Given the description of an element on the screen output the (x, y) to click on. 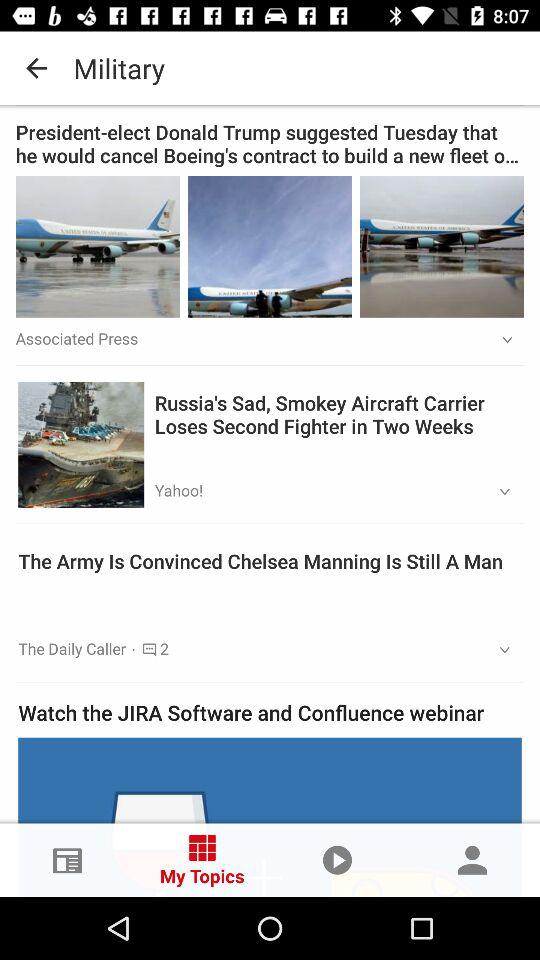
tap watch the jira app (269, 712)
